Given the description of an element on the screen output the (x, y) to click on. 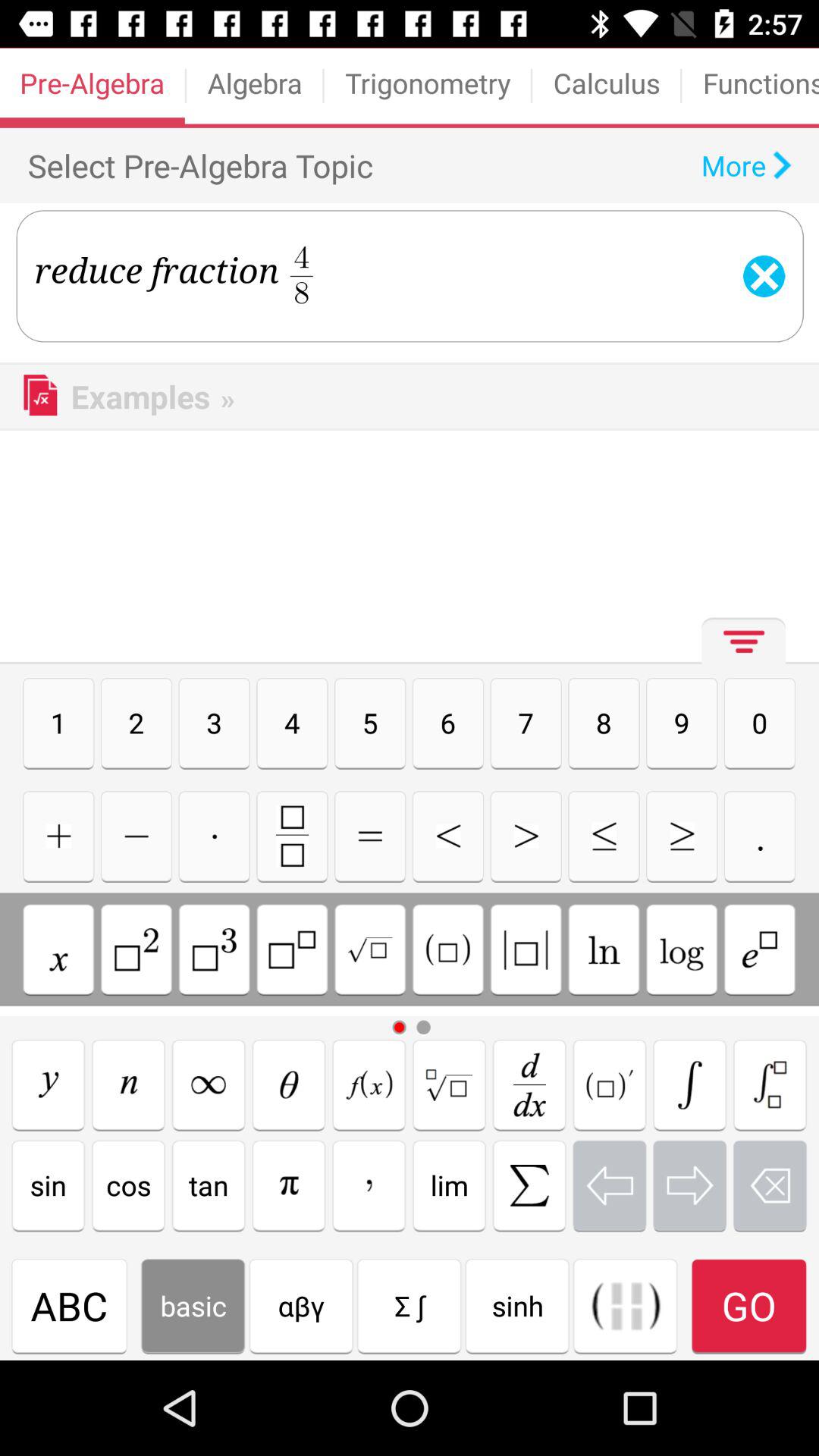
reduce fraction button (769, 1084)
